Given the description of an element on the screen output the (x, y) to click on. 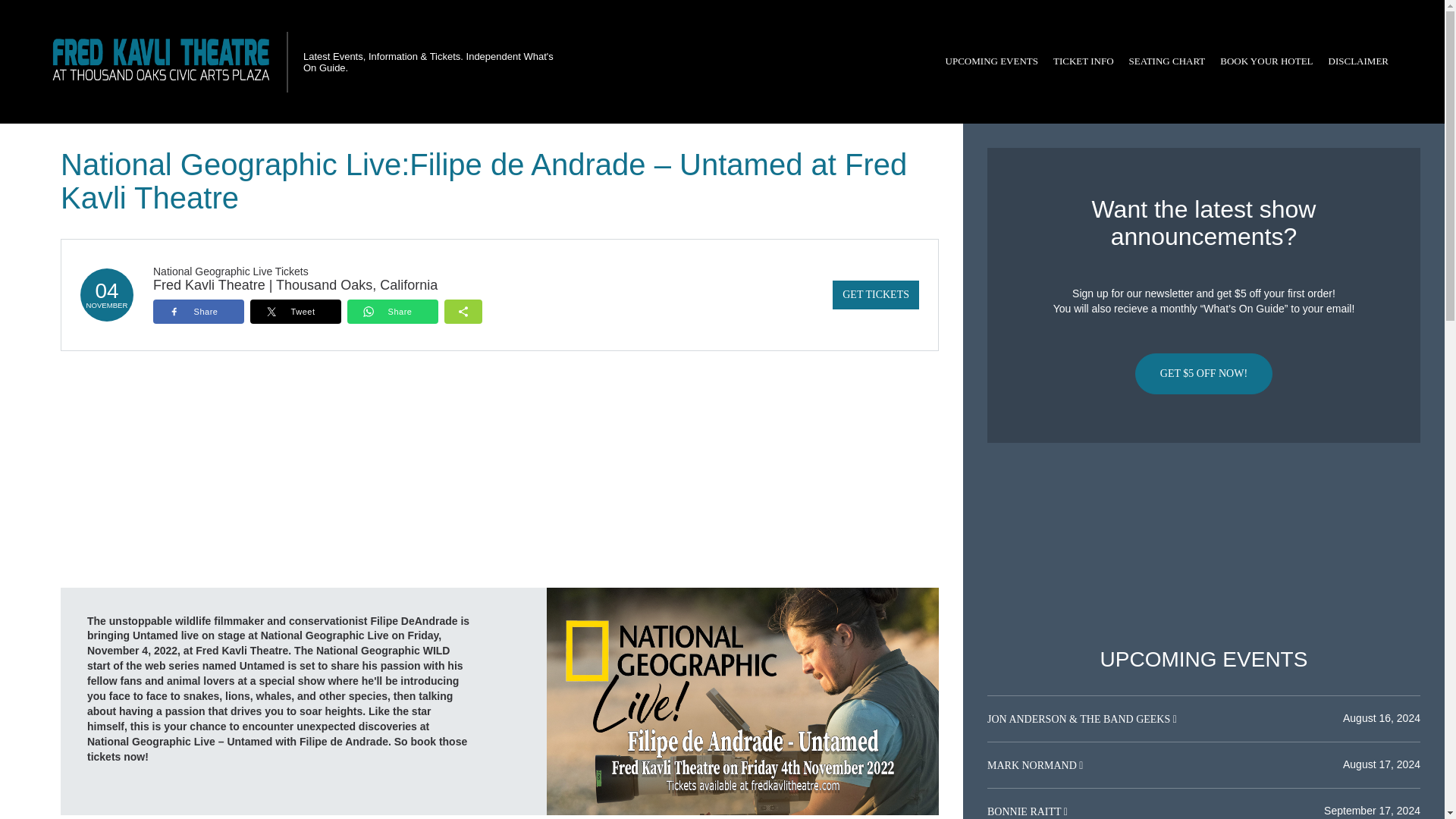
DISCLAIMER (1358, 61)
MARK NORMAND (1032, 765)
BONNIE RAITT (1025, 811)
GET TICKETS (875, 294)
UPCOMING EVENTS (991, 61)
National Geographic Live Tickets (230, 271)
TICKET INFO (1083, 61)
BOOK YOUR HOTEL (1266, 61)
Advertisement (1204, 545)
